Given the description of an element on the screen output the (x, y) to click on. 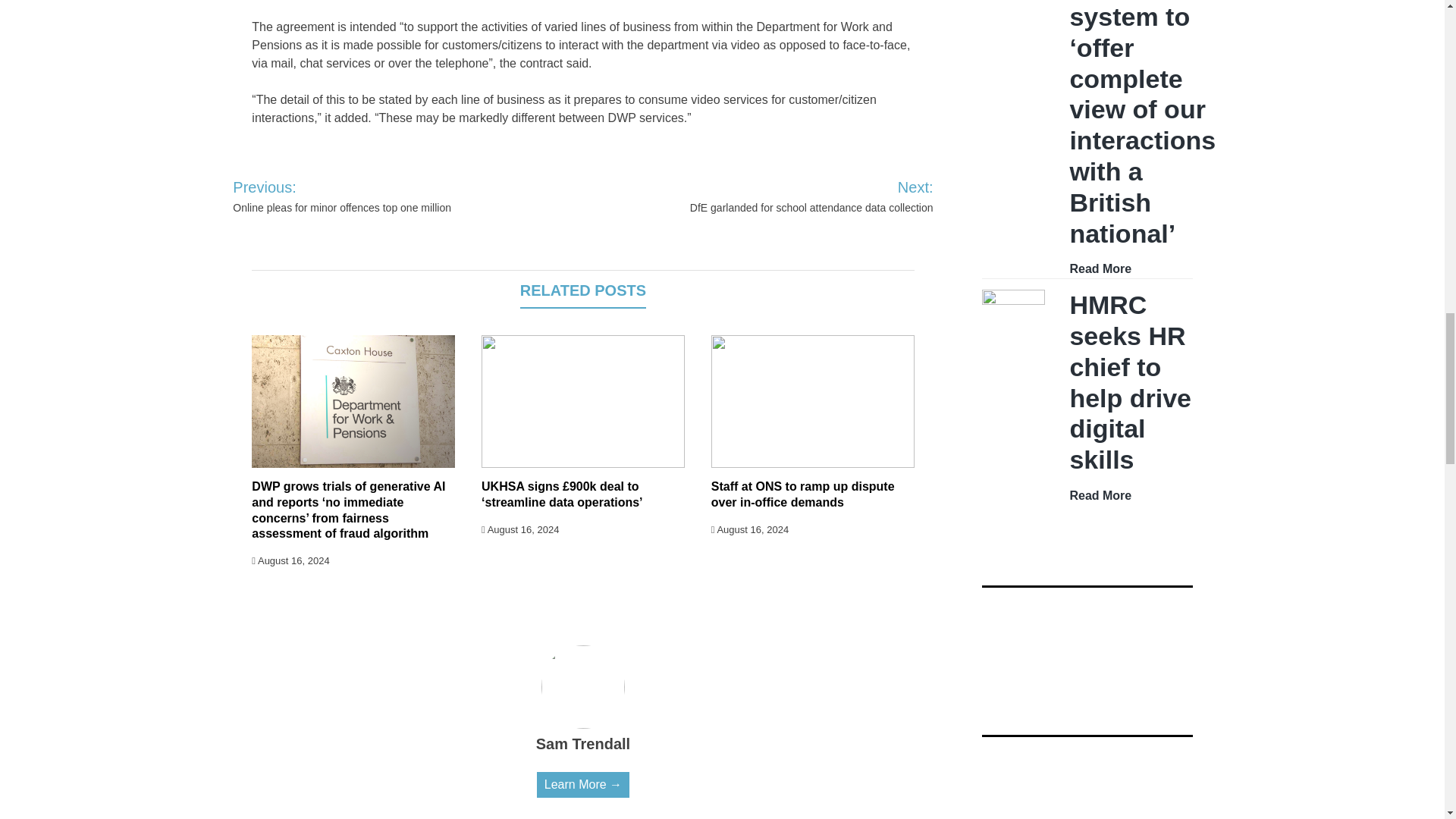
August 16, 2024 (520, 529)
August 16, 2024 (290, 560)
Previous: Online pleas for minor offences top one million (375, 196)
Staff at ONS to ramp up dispute over in-office demands (803, 493)
Next: DfE garlanded for school attendance data collection (791, 196)
